Given the description of an element on the screen output the (x, y) to click on. 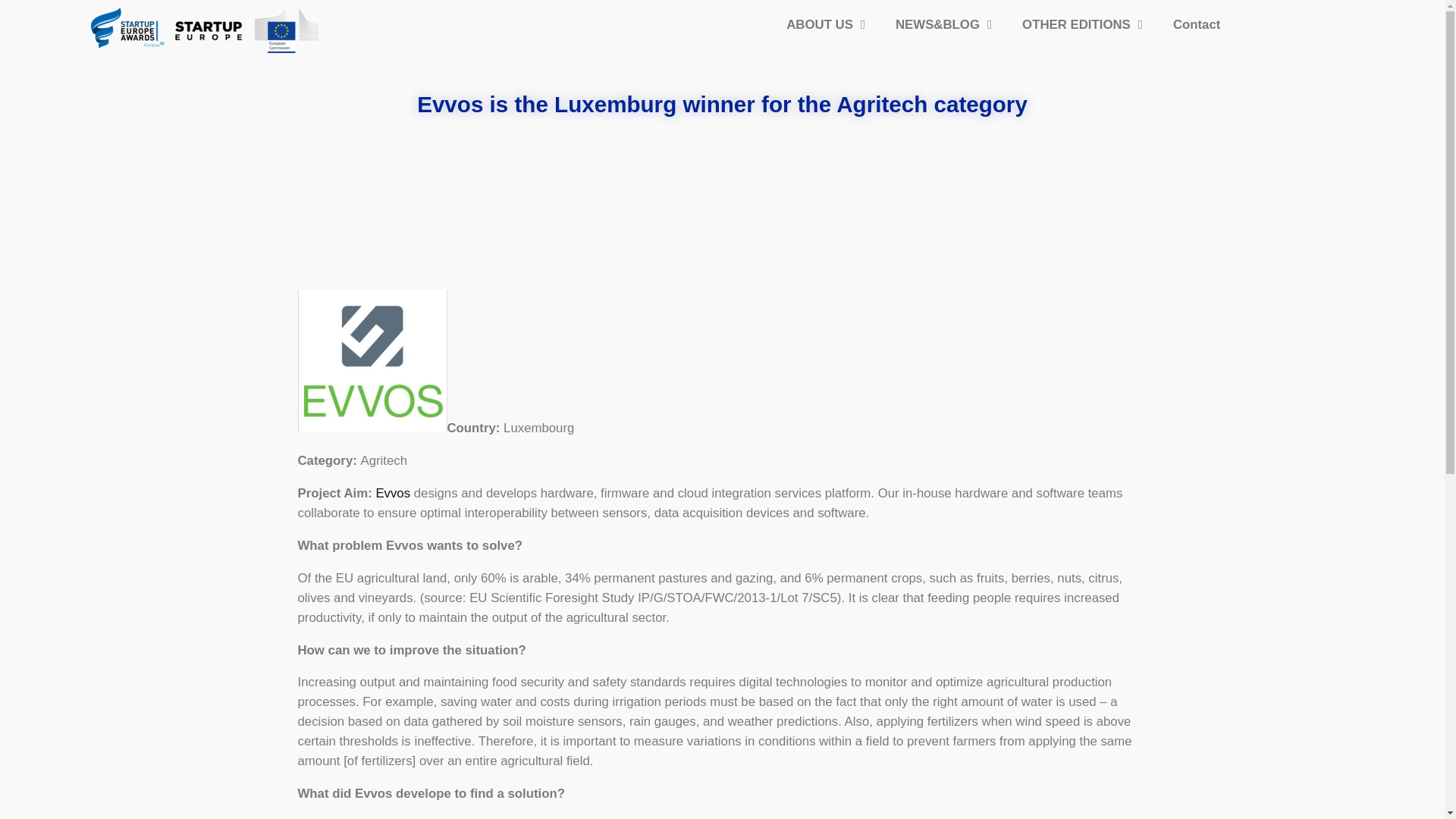
ABOUT US (825, 24)
Contact (1195, 24)
OTHER EDITIONS (1082, 24)
